Given the description of an element on the screen output the (x, y) to click on. 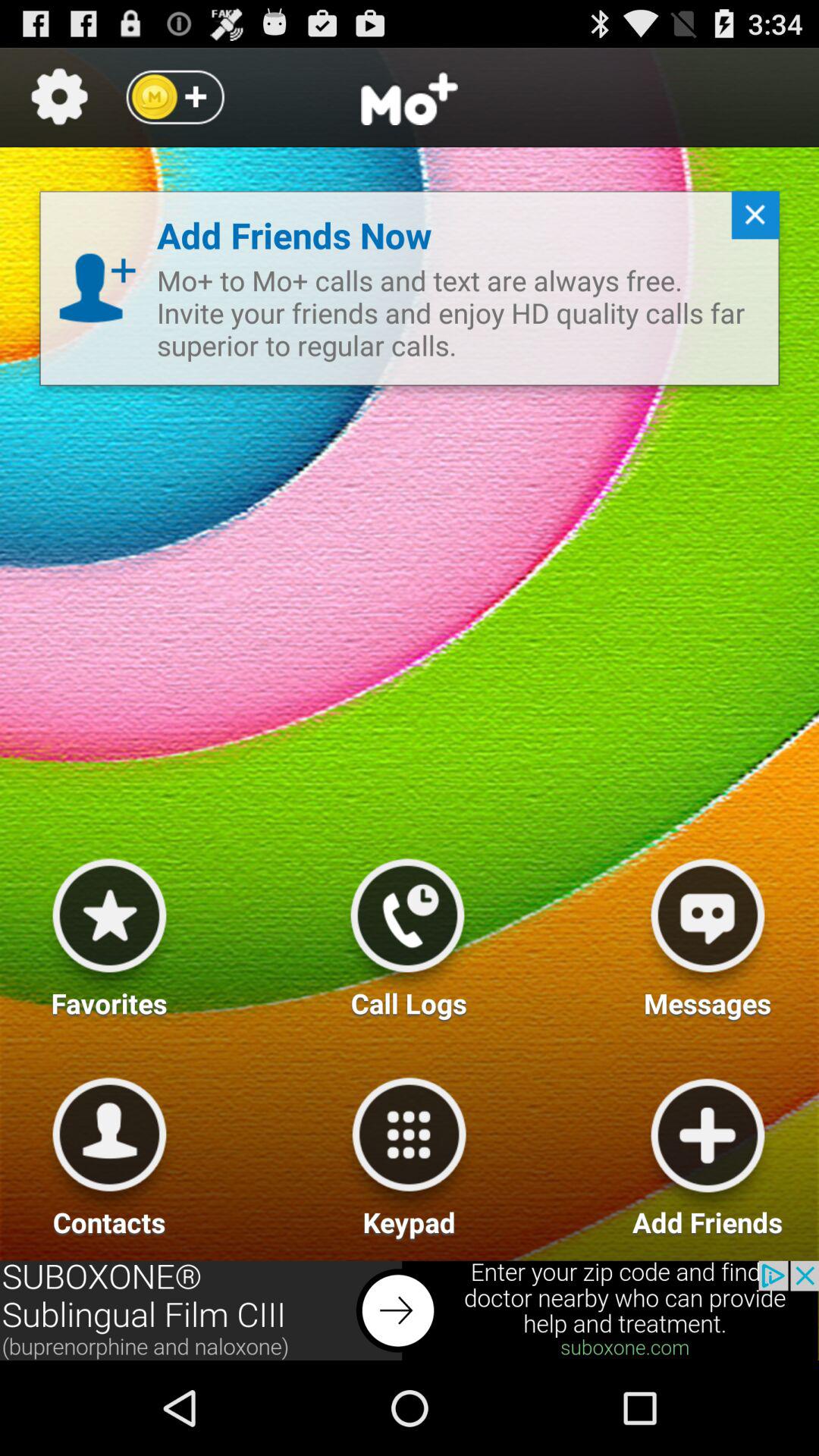
go to close button (749, 222)
